Given the description of an element on the screen output the (x, y) to click on. 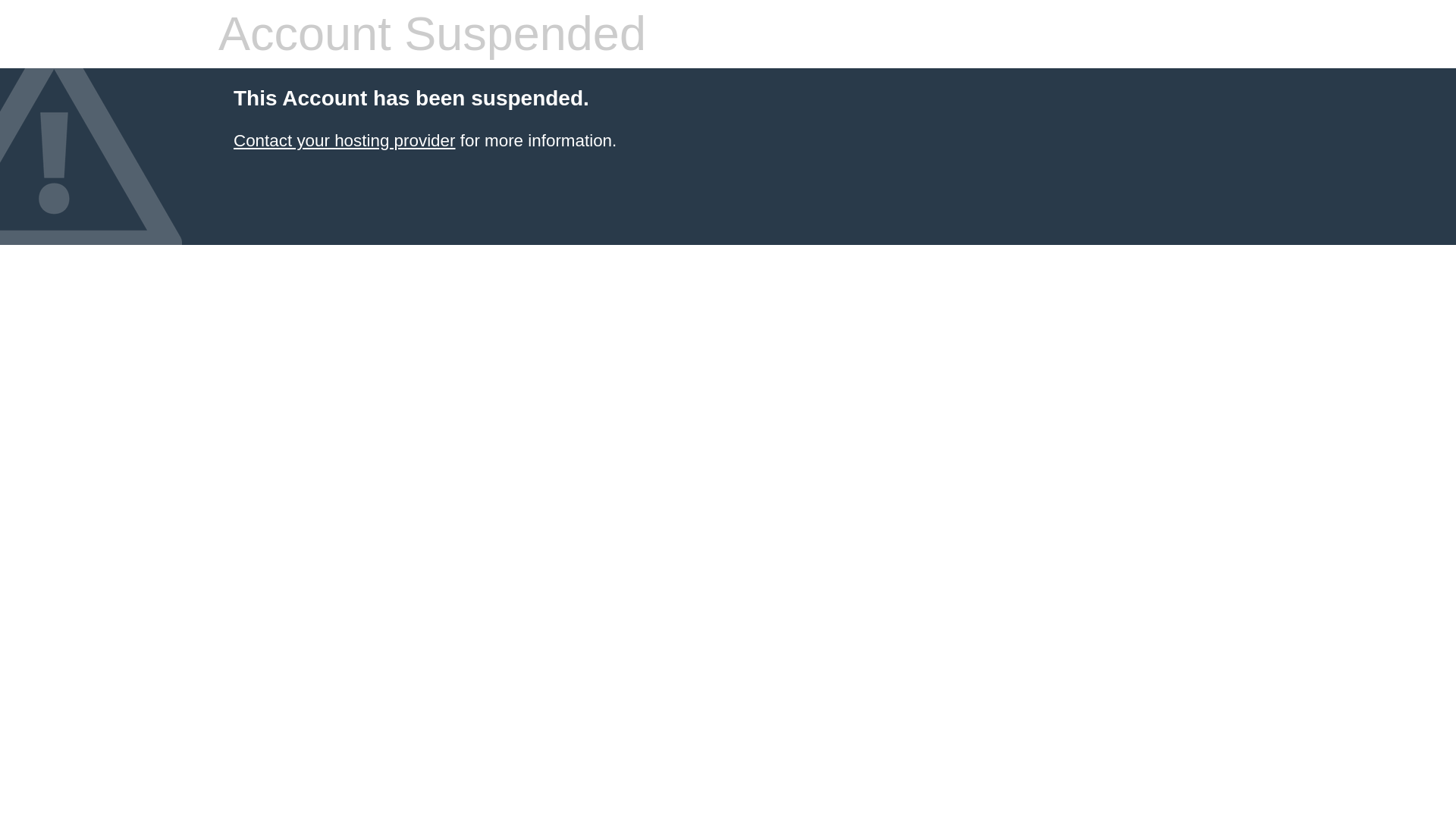
GreenGeeks LLC (343, 140)
Contact your hosting provider (343, 140)
